Given the description of an element on the screen output the (x, y) to click on. 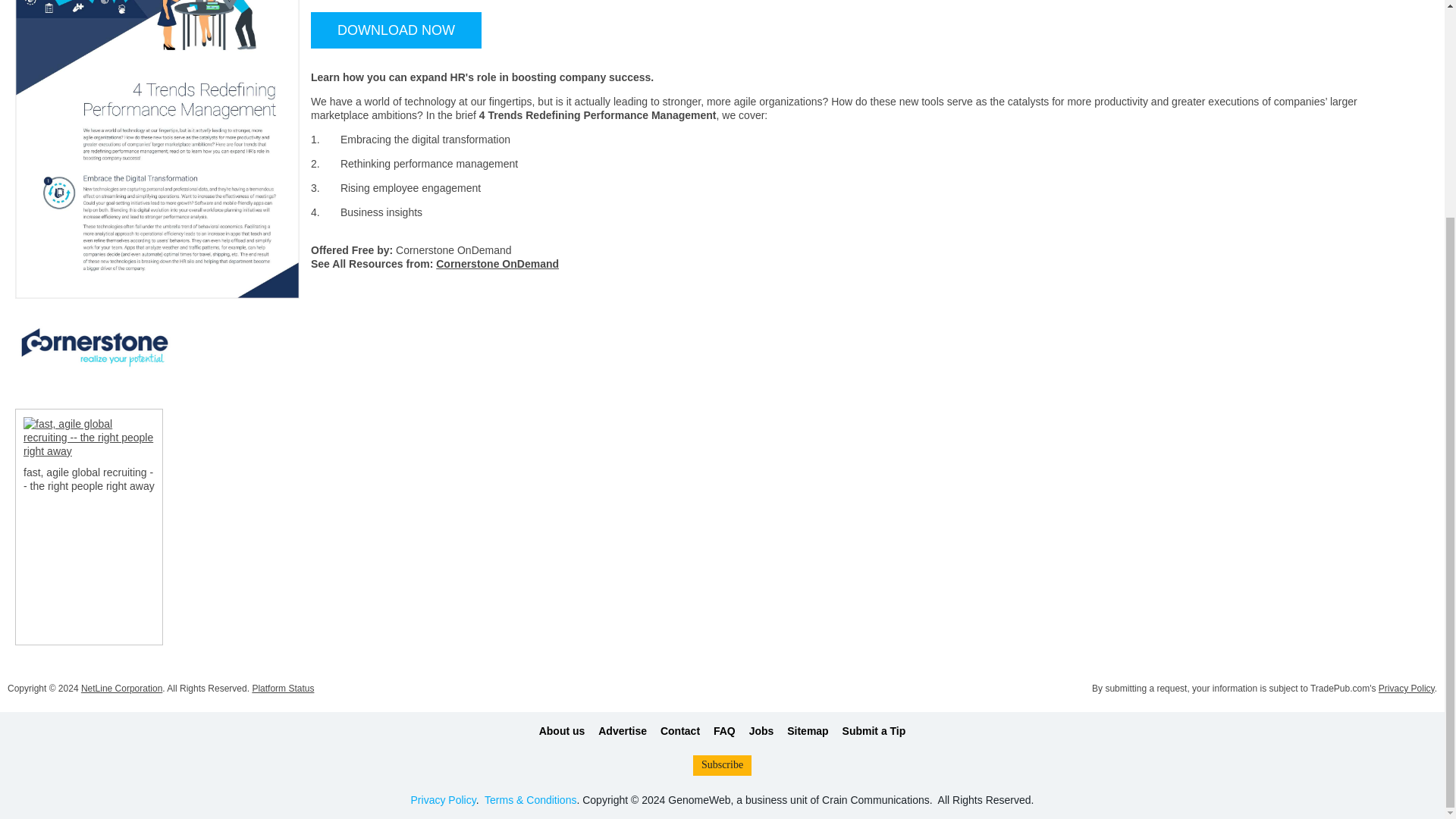
Privacy Policy (443, 799)
Get answers to frequently-asked questions. (724, 730)
A text sitemap of the website. (807, 730)
Terms and conditions (530, 799)
